Given the description of an element on the screen output the (x, y) to click on. 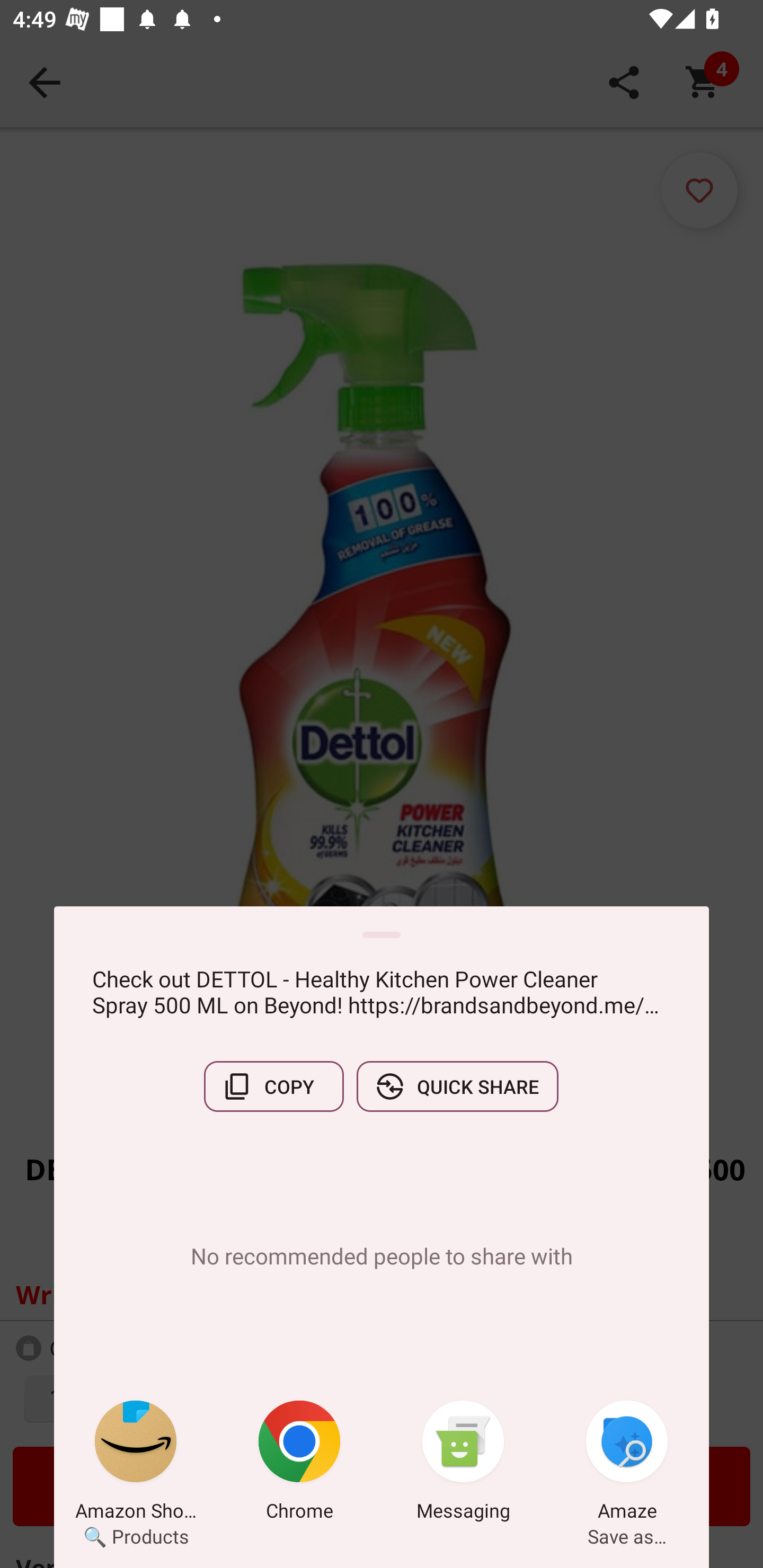
COPY (273, 1086)
QUICK SHARE (457, 1086)
Amazon Shopping 🔍 Products (135, 1463)
Chrome (299, 1463)
Messaging (463, 1463)
Amaze Save as… (626, 1463)
